Given the description of an element on the screen output the (x, y) to click on. 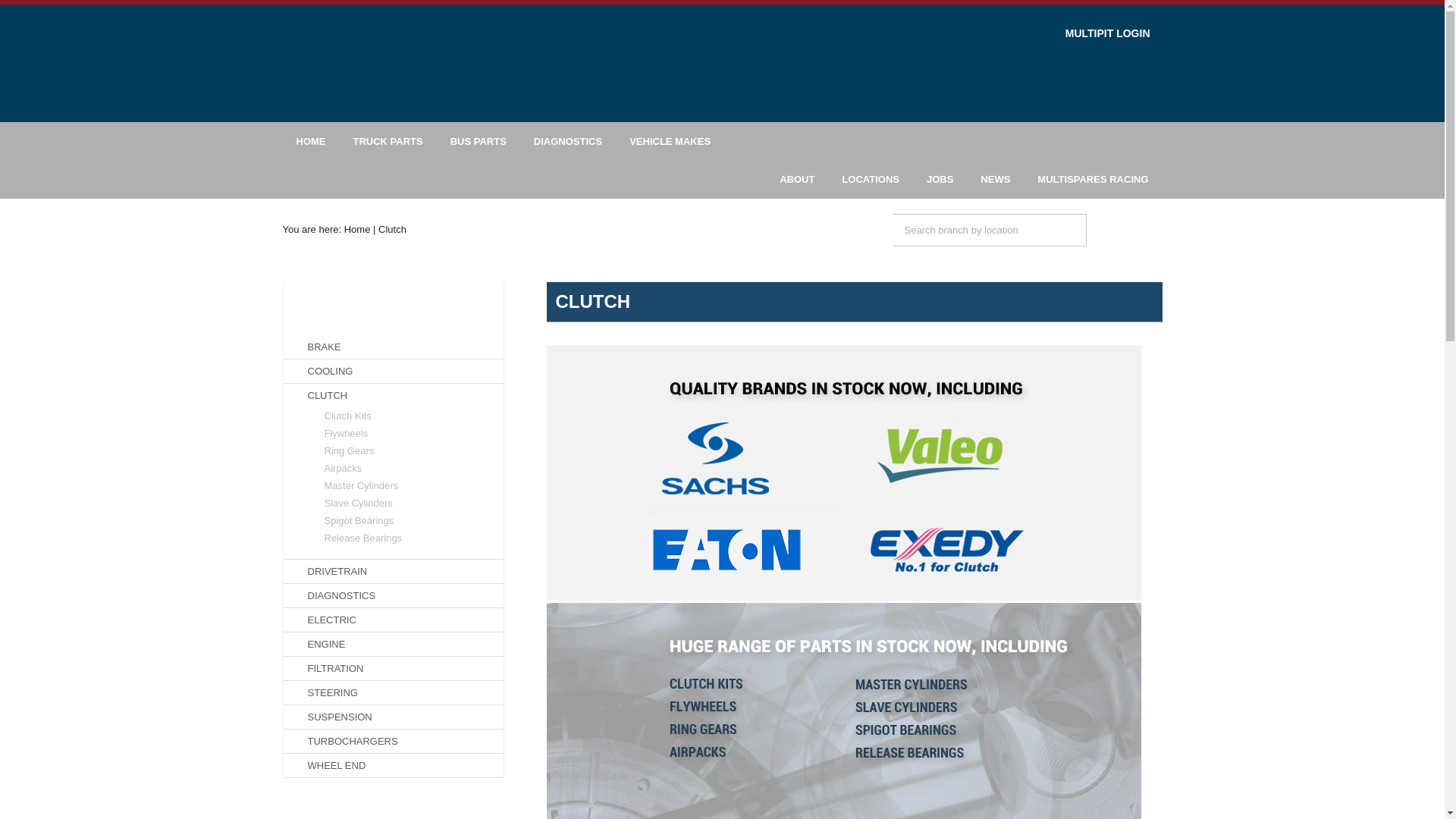
TRUCK PARTS (387, 141)
BUS PARTS (477, 141)
MULTIPIT LOGIN (1095, 32)
VEHICLE MAKES (669, 141)
Go to Multispares Truck Parts. (357, 229)
HOME (310, 141)
DIAGNOSTICS (567, 141)
